Given the description of an element on the screen output the (x, y) to click on. 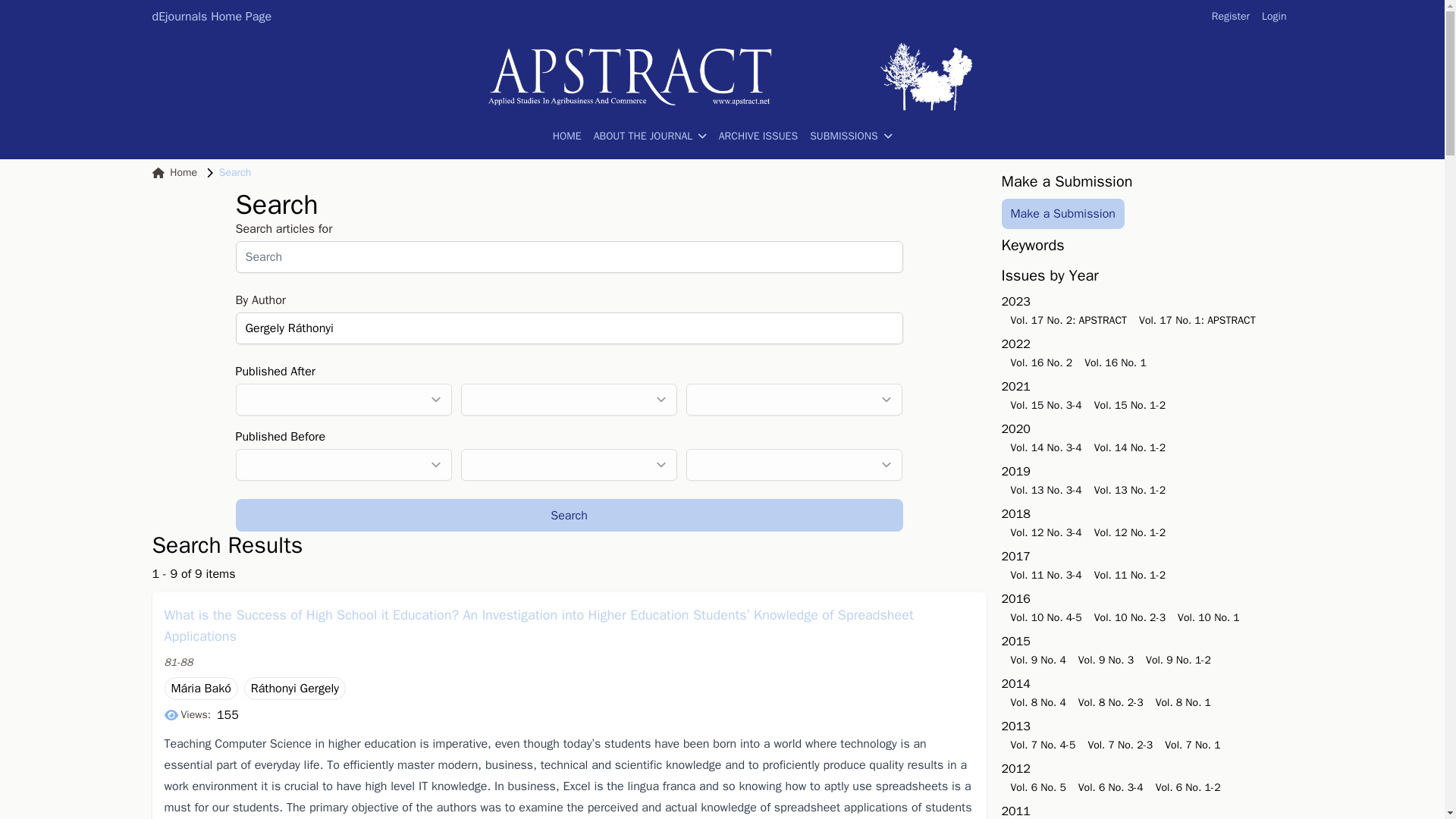
Login (1273, 16)
Register (1230, 16)
dEjournals Home Page (210, 16)
ABOUT THE JOURNAL (650, 136)
HOME (566, 136)
